Given the description of an element on the screen output the (x, y) to click on. 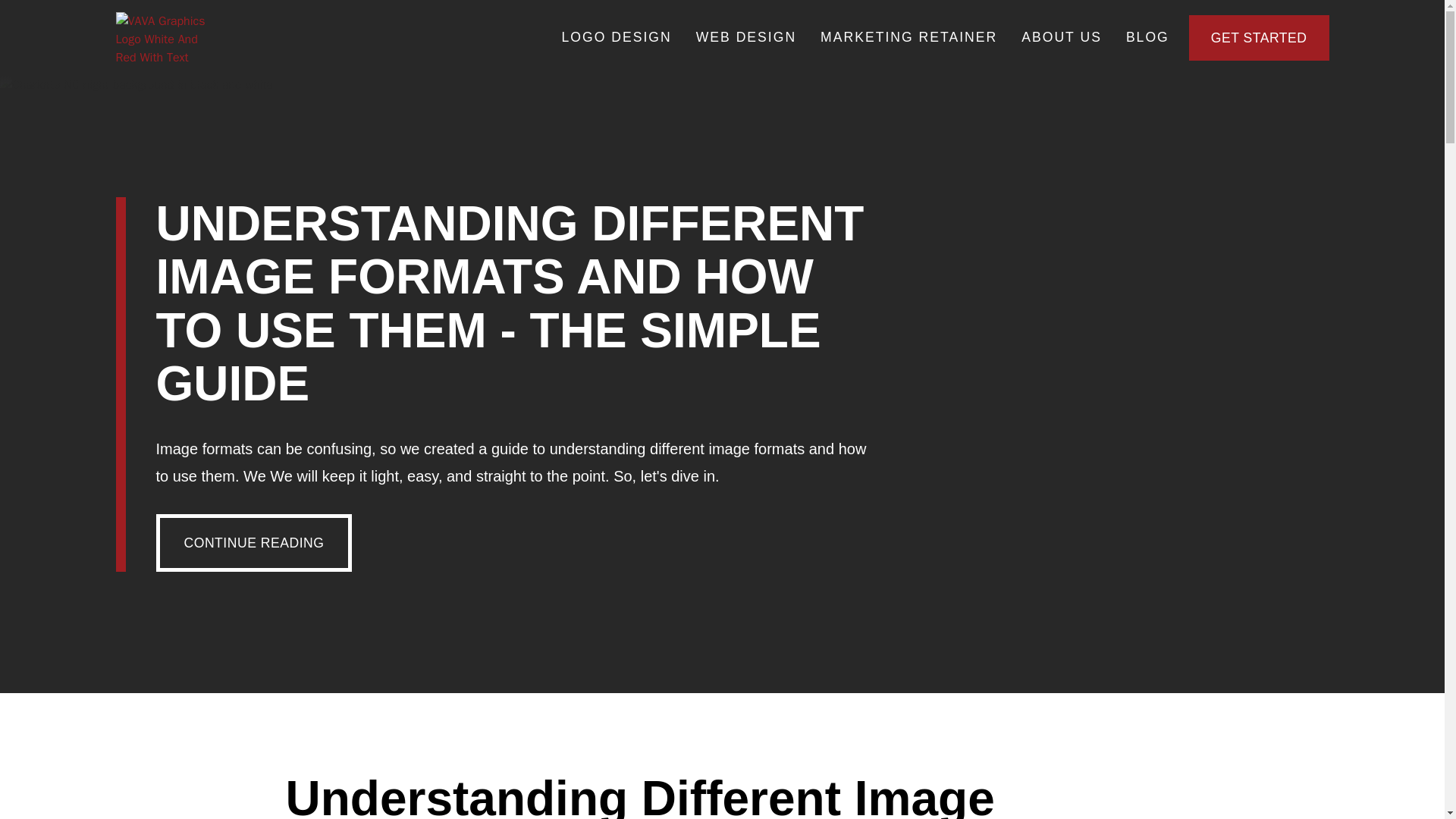
BLOG (1146, 37)
LOGO DESIGN (615, 37)
ABOUT US (1061, 37)
WEB DESIGN (746, 37)
MARKETING RETAINER (908, 37)
GET STARTED (1259, 37)
CONTINUE READING (253, 542)
